Given the description of an element on the screen output the (x, y) to click on. 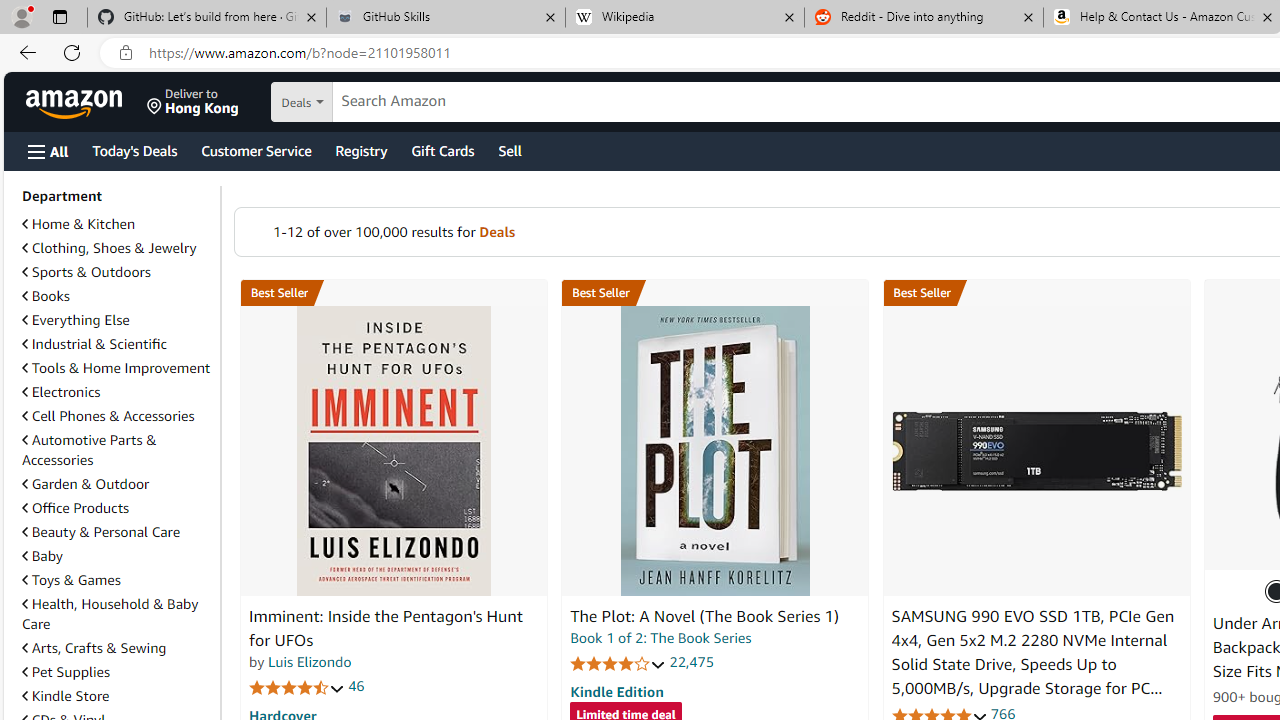
Arts, Crafts & Sewing (117, 647)
Sports & Outdoors (86, 271)
Electronics (61, 392)
Open Menu (48, 151)
Toys & Games (71, 579)
Books (45, 296)
Garden & Outdoor (117, 483)
Best Seller in Heist Thrillers (715, 293)
Office Products (117, 507)
Deliver to Hong Kong (193, 101)
Registry (360, 150)
Everything Else (117, 319)
Gift Cards (442, 150)
